Given the description of an element on the screen output the (x, y) to click on. 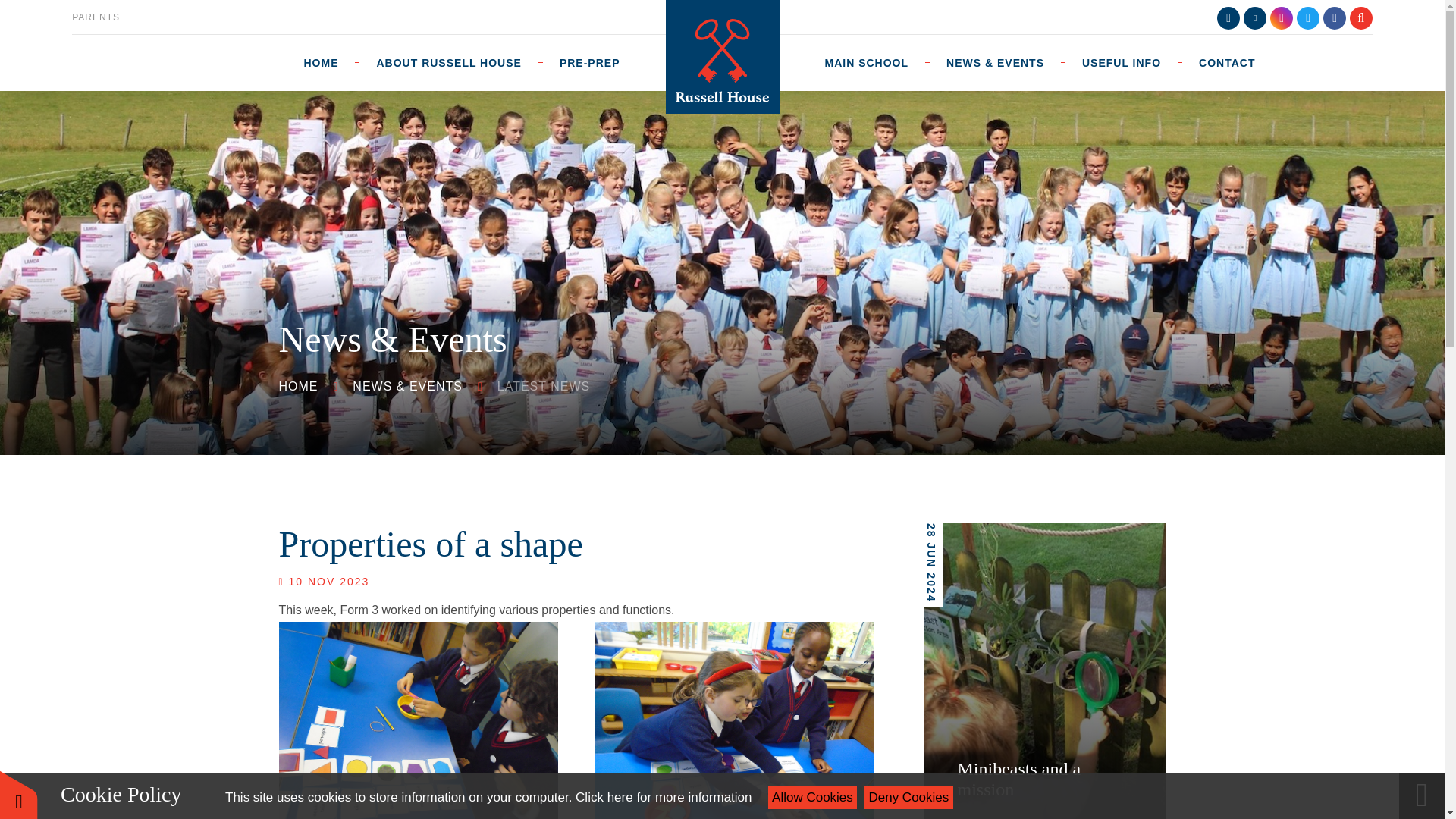
MAIN SCHOOL (866, 62)
Search (1361, 16)
Instagram (1280, 16)
HOME (329, 62)
Telephone (1228, 16)
Facebook (1334, 16)
Email (1254, 16)
Twitter (1308, 16)
ABOUT RUSSELL HOUSE (448, 62)
PRE-PREP (589, 62)
